Given the description of an element on the screen output the (x, y) to click on. 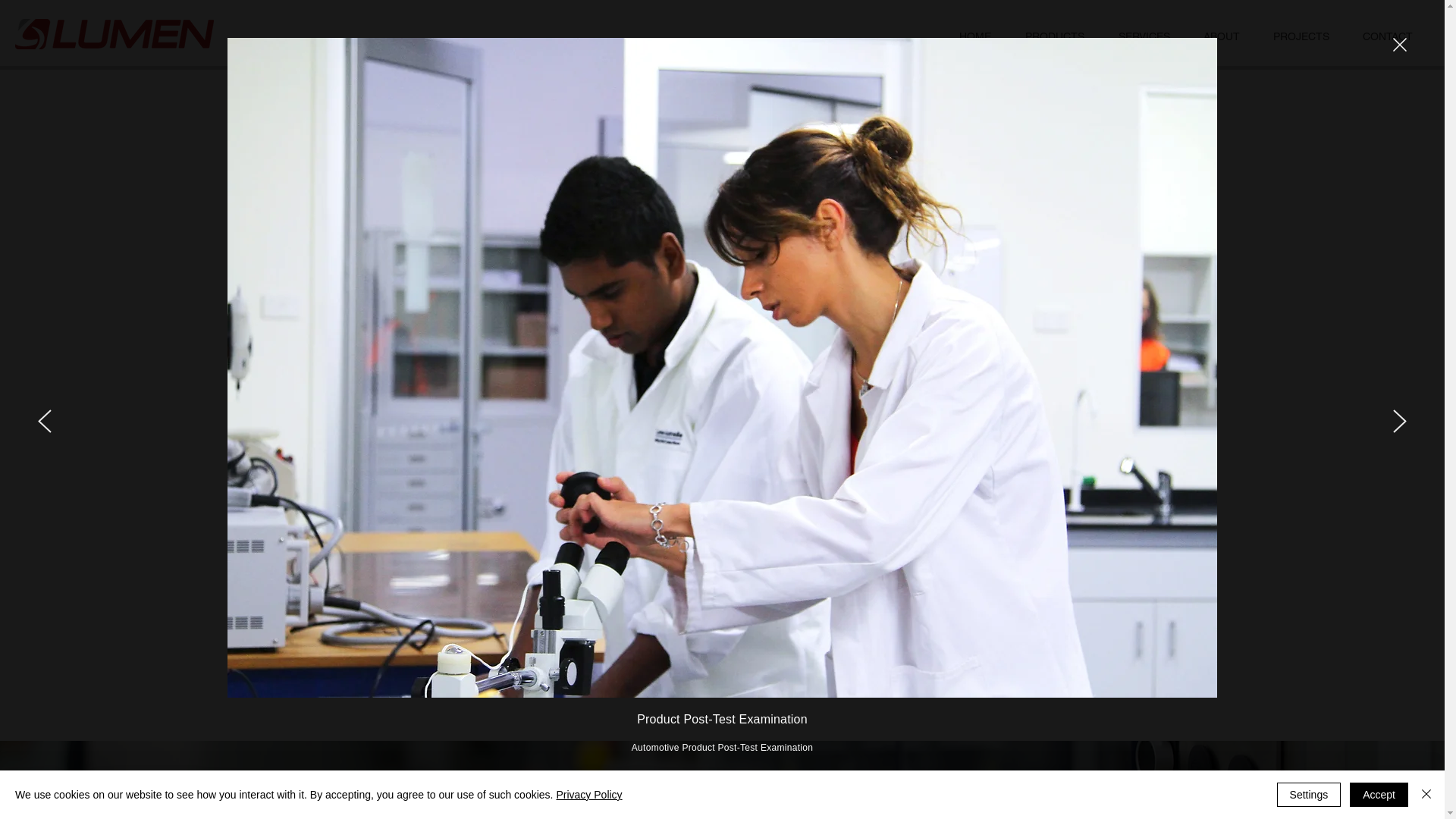
ABOUT Element type: text (1221, 36)
HOME Element type: text (974, 36)
SERVICES Element type: text (1143, 36)
Settings Element type: text (1309, 794)
CONTACT Element type: text (1387, 36)
Accept Element type: text (1378, 794)
BACK Element type: text (431, 643)
PRODUCTS Element type: text (1054, 36)
Privacy Policy Element type: text (588, 794)
PROJECTS Element type: text (1301, 36)
